Given the description of an element on the screen output the (x, y) to click on. 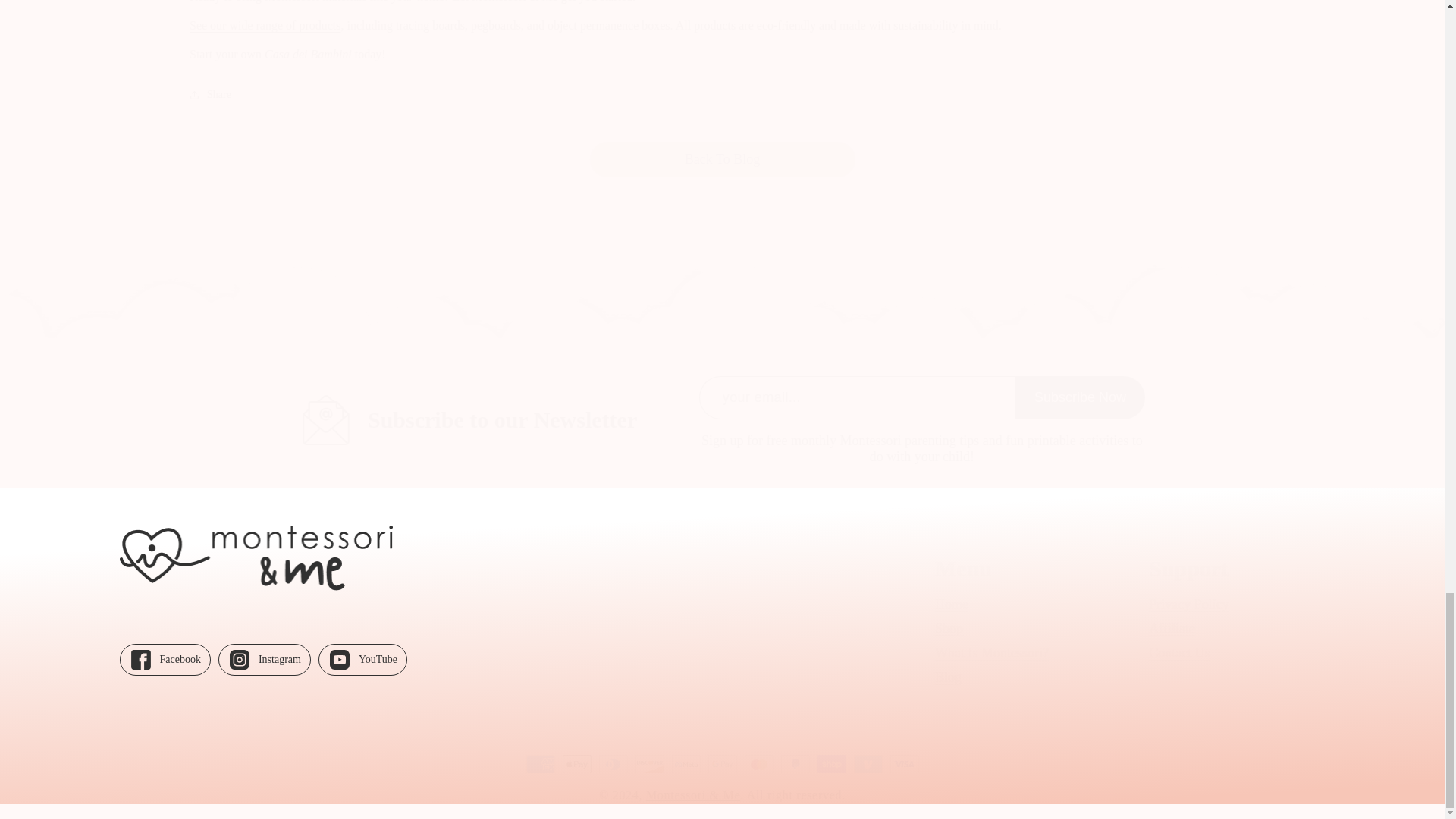
Back To Blog (1236, 630)
Share (722, 159)
